Given the description of an element on the screen output the (x, y) to click on. 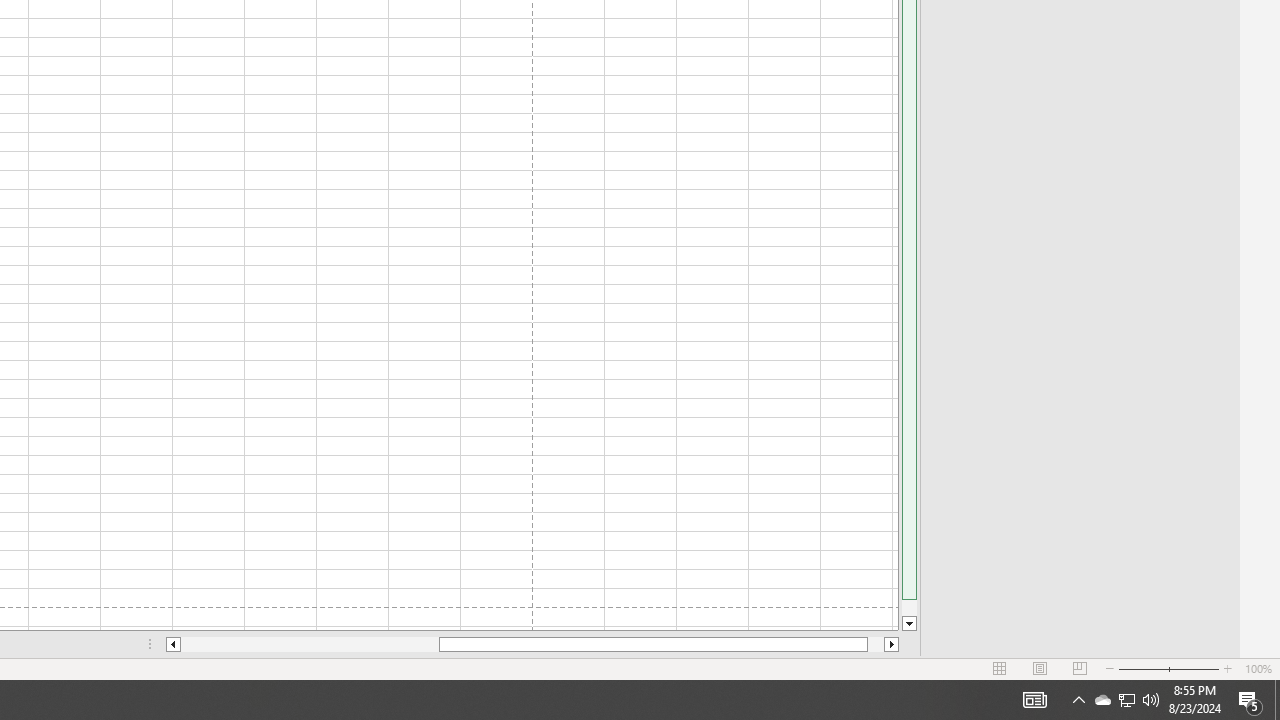
Column left (171, 644)
Page left (309, 644)
Zoom (1168, 668)
Zoom Out (1142, 668)
Page Break Preview (1079, 668)
Page Layout (1039, 668)
Line down (909, 624)
Normal (1000, 668)
Zoom In (1227, 668)
Page right (875, 644)
Class: NetUIScrollBar (532, 644)
Page down (909, 607)
Column right (892, 644)
